Given the description of an element on the screen output the (x, y) to click on. 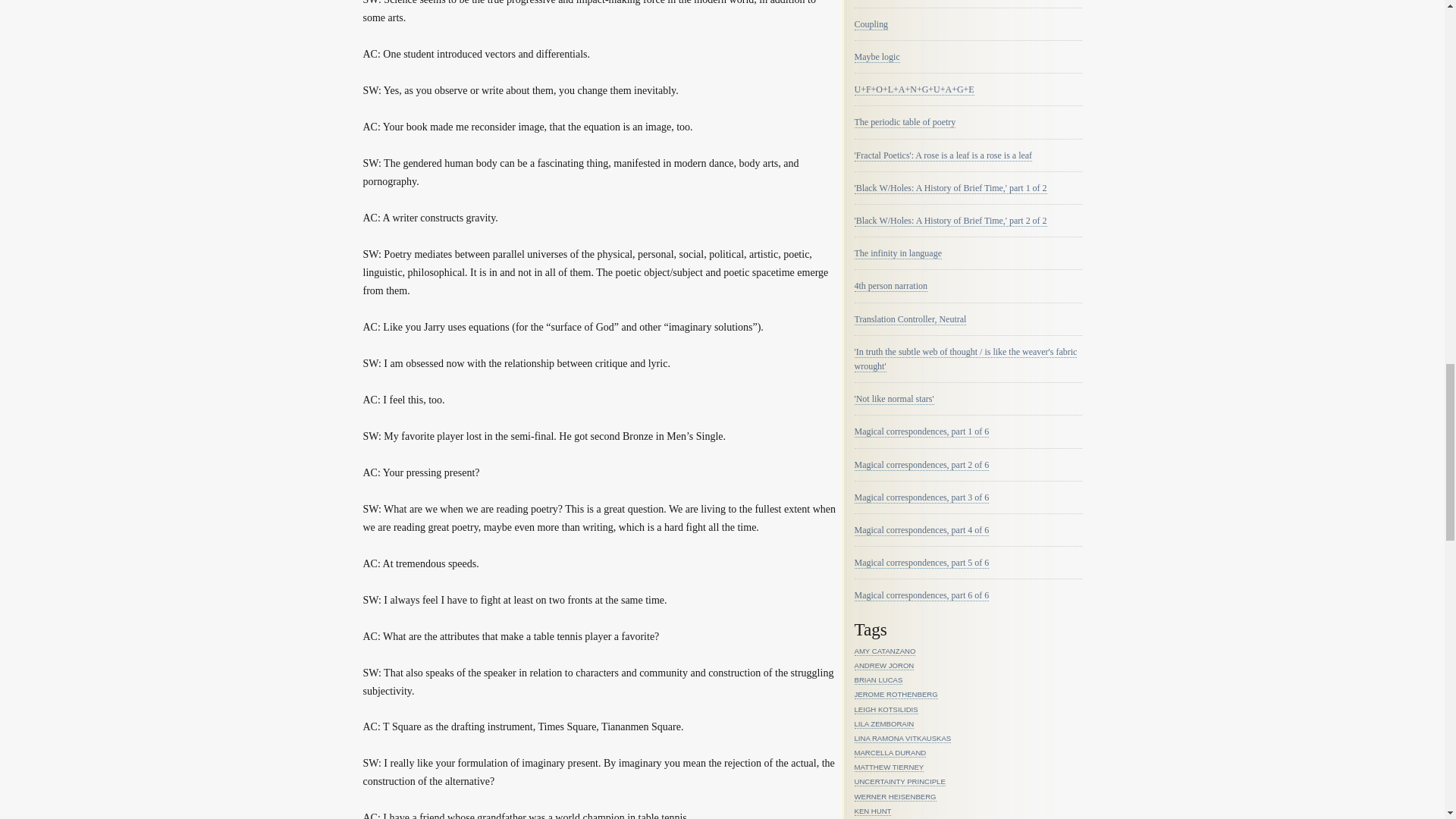
Maybe logic (876, 57)
Coupling (870, 24)
The periodic table of poetry (904, 122)
